Given the description of an element on the screen output the (x, y) to click on. 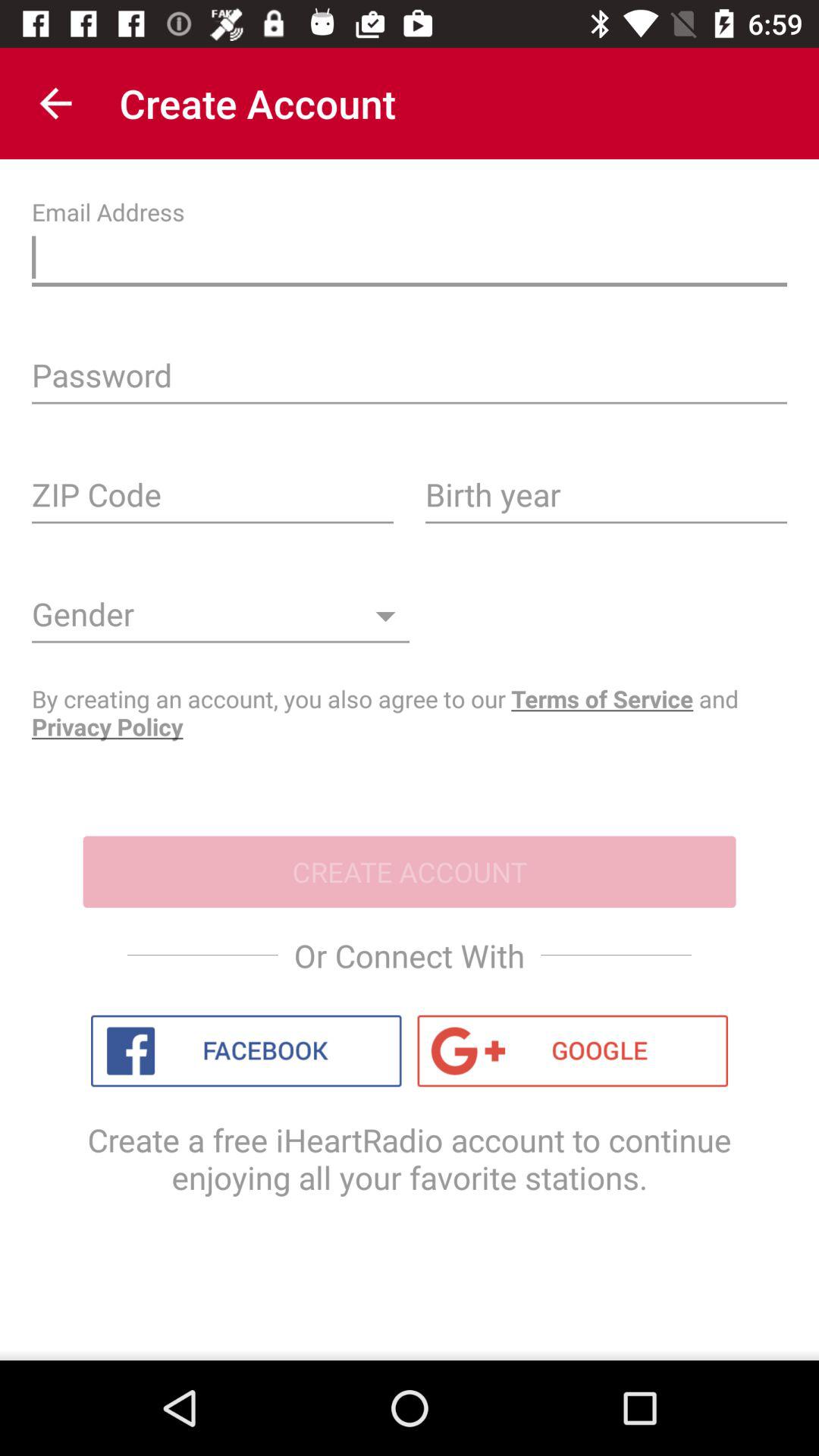
enter zip code (212, 499)
